Given the description of an element on the screen output the (x, y) to click on. 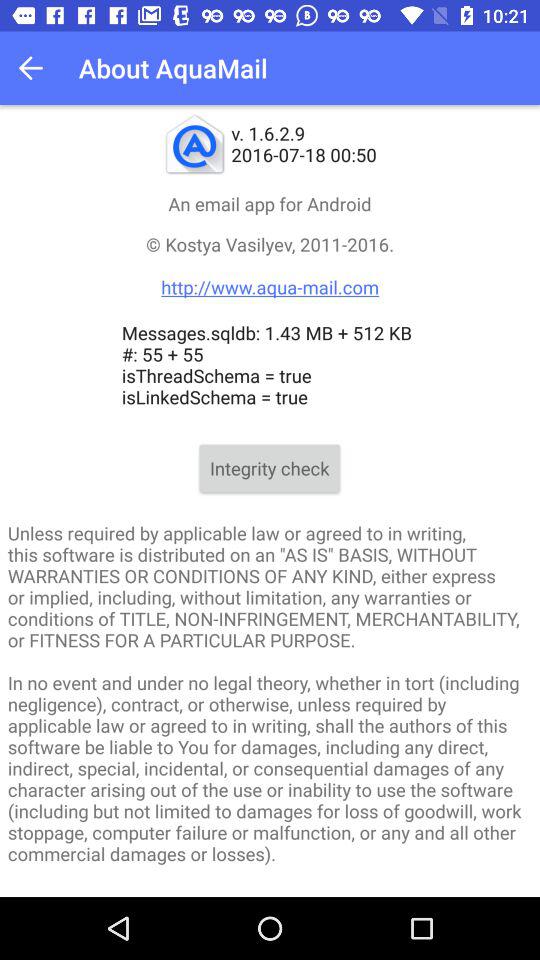
swipe until the integrity check item (269, 467)
